Given the description of an element on the screen output the (x, y) to click on. 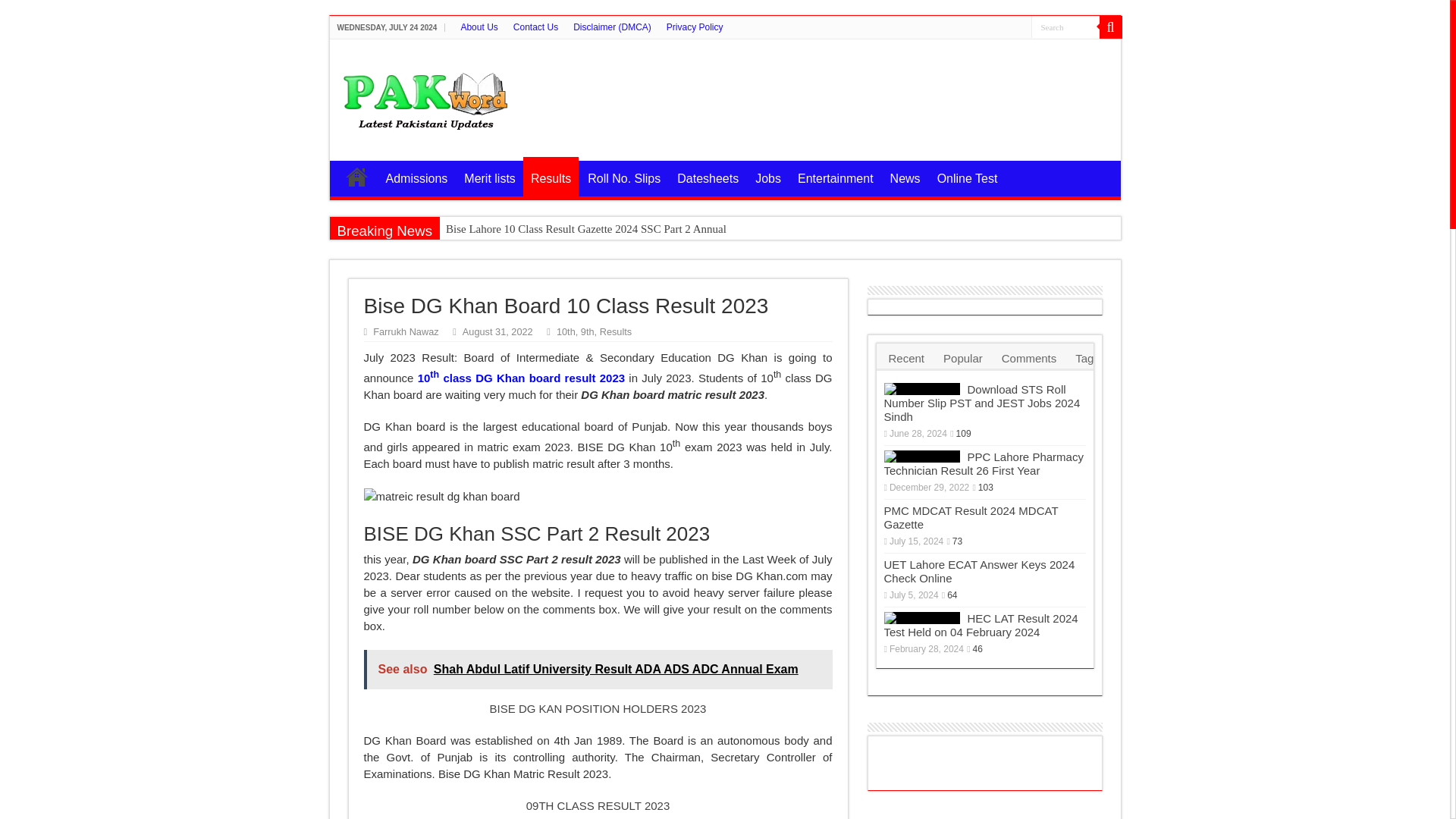
Bise Lahore 10 Class Result Gazette 2024 SSC Part 2 Annual (598, 229)
Results (550, 176)
Results (615, 331)
Search (1064, 26)
Roll No. Slips (623, 176)
Search (1064, 26)
Bise Lahore 10 Class Result Gazette 2024 SSC Part 2 Annual (598, 229)
BISE DG KAN POSITION HOLDERS 2023 (597, 707)
News (905, 176)
Farrukh Nawaz (405, 331)
Contact Us (535, 26)
09TH CLASS RESULT 2023 (597, 805)
Merit lists (488, 176)
Home (355, 176)
